Given the description of an element on the screen output the (x, y) to click on. 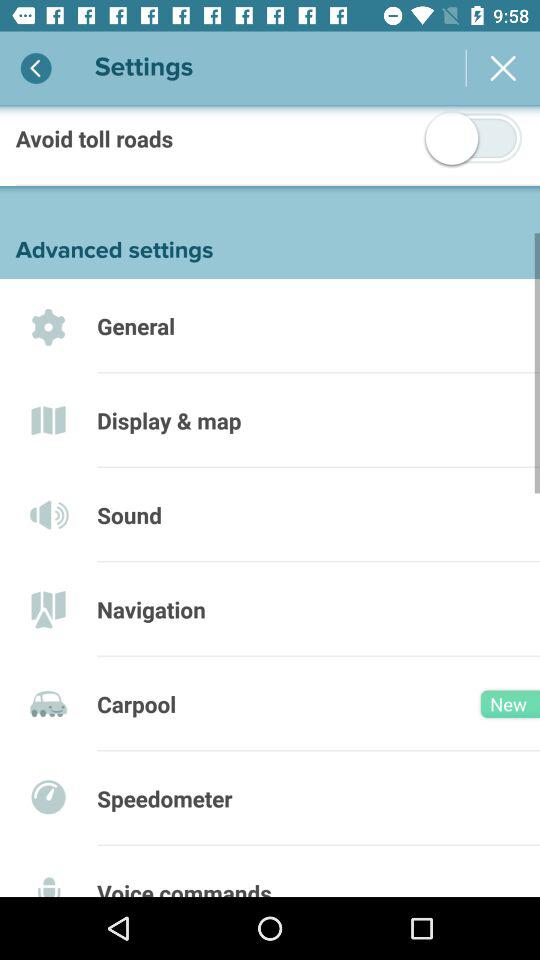
tag the icon left to carpool (48, 715)
select the sixth icon (48, 809)
select the  close button (503, 68)
